Given the description of an element on the screen output the (x, y) to click on. 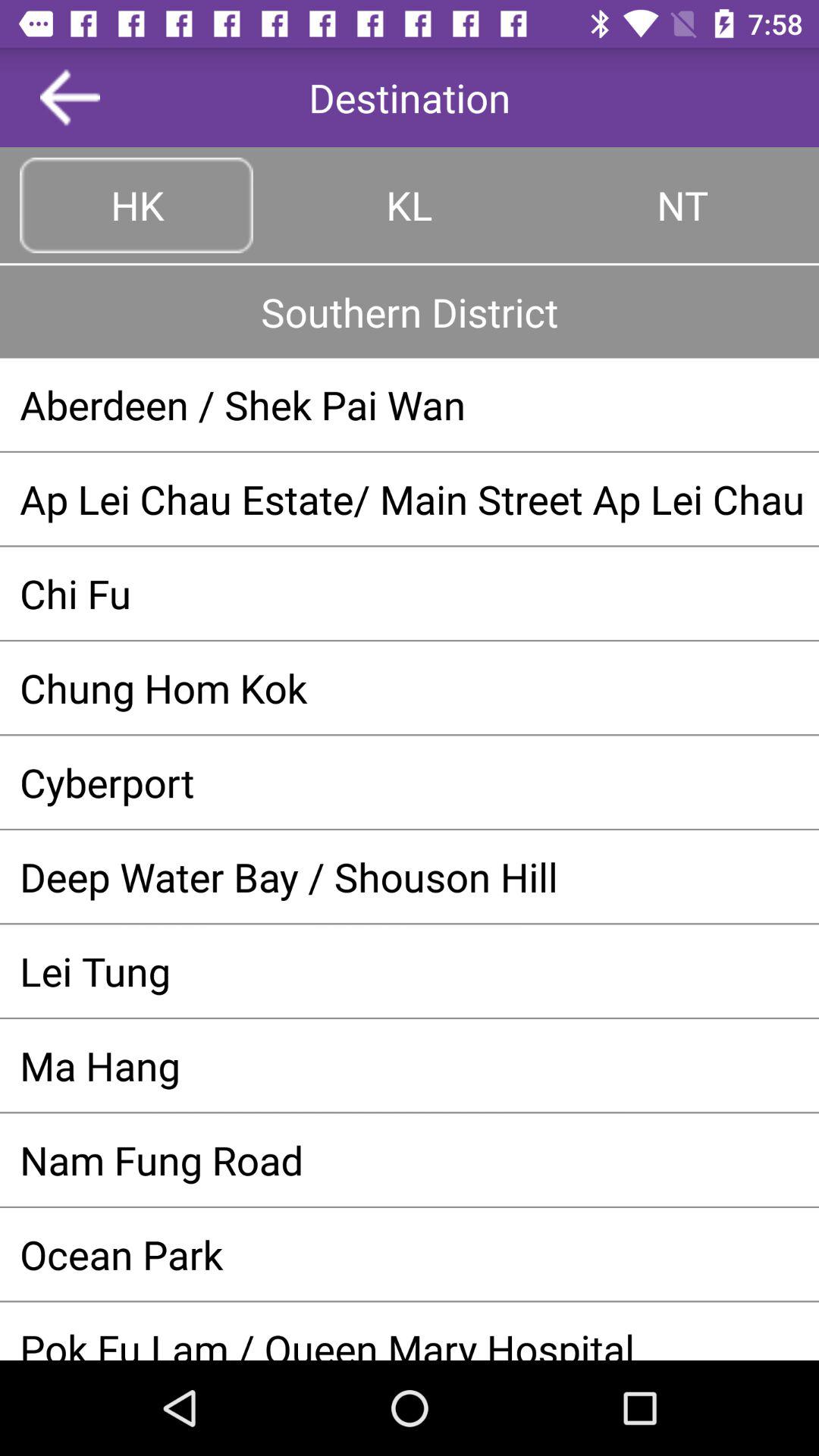
scroll to the deep water bay (409, 876)
